Given the description of an element on the screen output the (x, y) to click on. 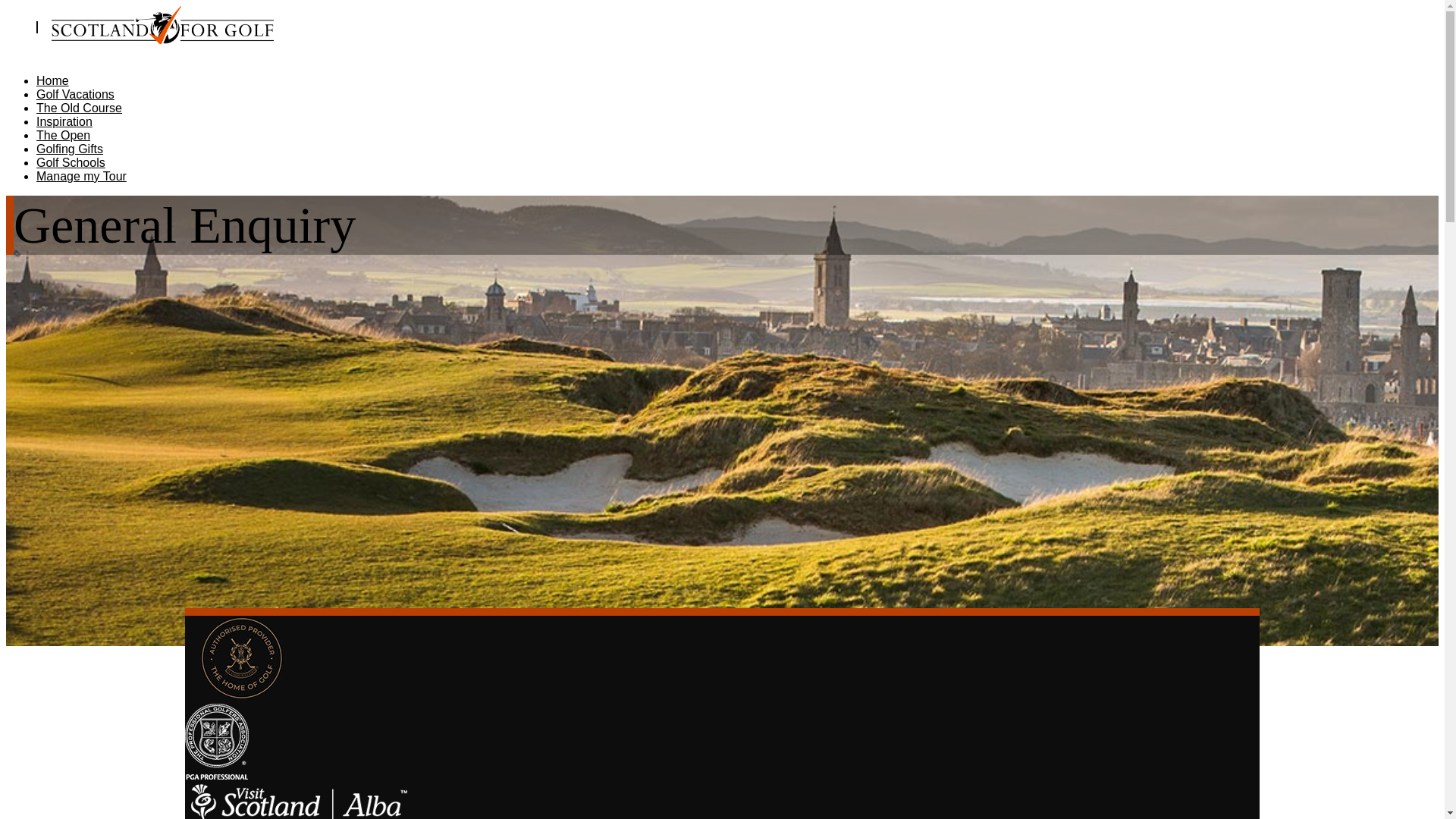
Golfing Gifts (69, 148)
The Open (63, 134)
Home (52, 80)
Manage my Tour (81, 175)
Inspiration (64, 121)
Go To Homepage (139, 39)
Golf Vacations (75, 93)
Golf Schools (70, 162)
The Old Course (79, 107)
